Given the description of an element on the screen output the (x, y) to click on. 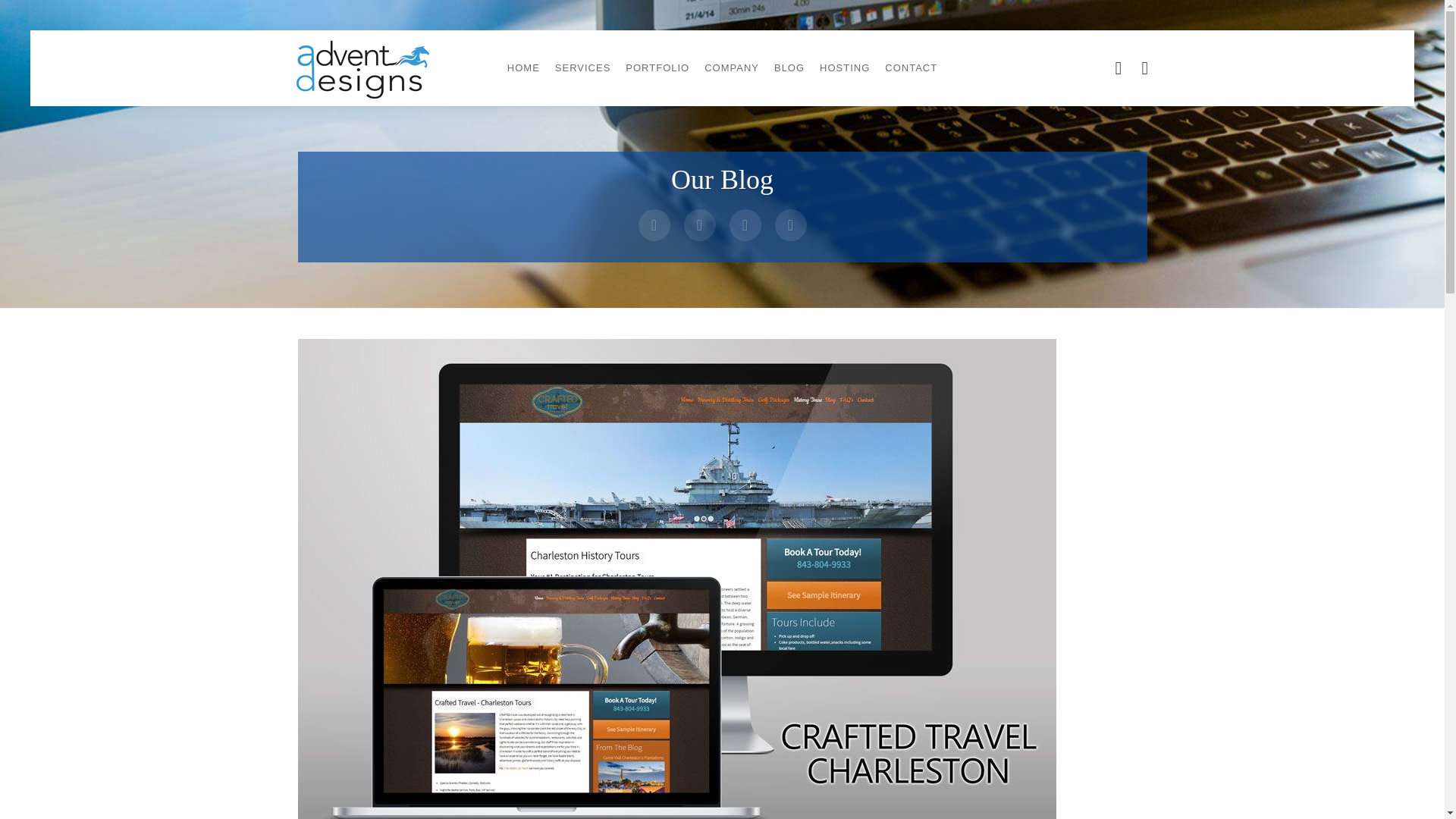
CONTACT (910, 68)
PORTFOLIO (657, 68)
SERVICES (582, 68)
COMPANY (732, 68)
